Given the description of an element on the screen output the (x, y) to click on. 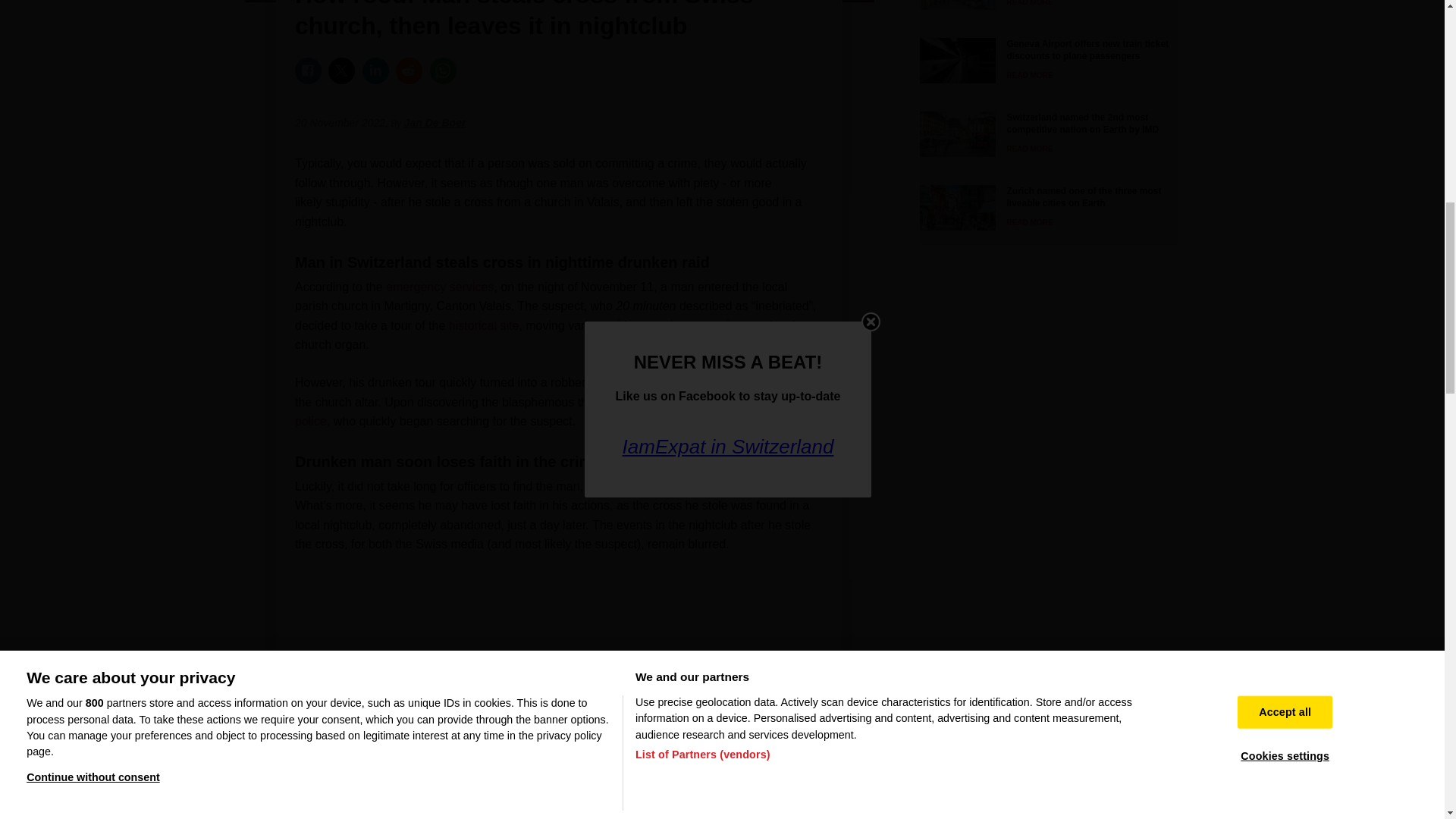
3rd party ad content (559, 629)
Two Swiss cities named among the 10 happiest in the world (1043, 4)
